Given the description of an element on the screen output the (x, y) to click on. 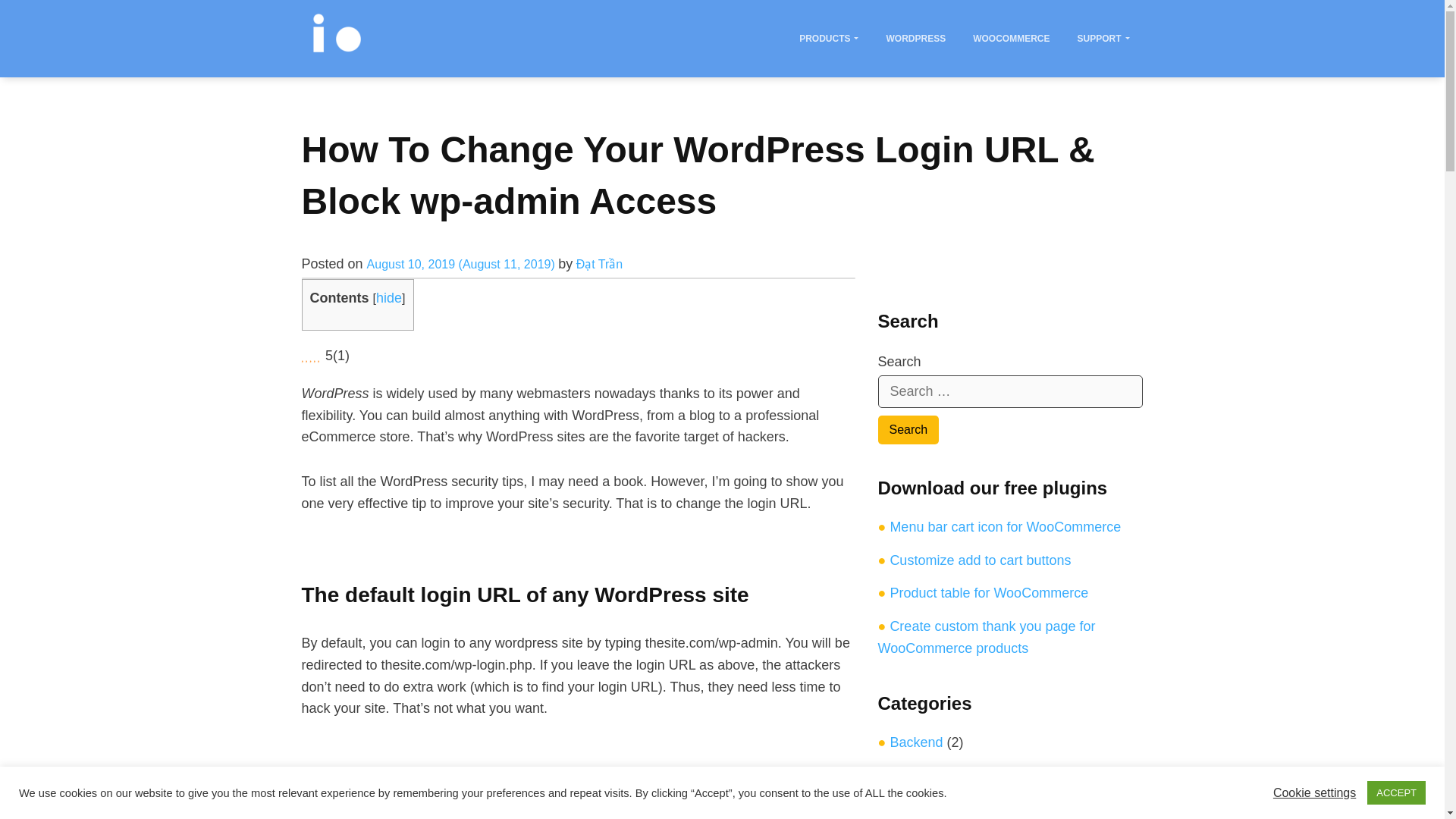
Create custom thank you page for WooCommerce products (986, 637)
Contact Form 7 (936, 807)
SUPPORT (1102, 38)
WordPress (915, 38)
WOOCOMMERCE (1010, 38)
Products (828, 38)
Search (908, 429)
hide (388, 297)
Blog (903, 775)
Search (908, 429)
WORDPRESS (915, 38)
Customize add to cart buttons (979, 560)
Support (1102, 38)
Menu bar cart icon for WooCommerce (1005, 526)
PRODUCTS (828, 38)
